Given the description of an element on the screen output the (x, y) to click on. 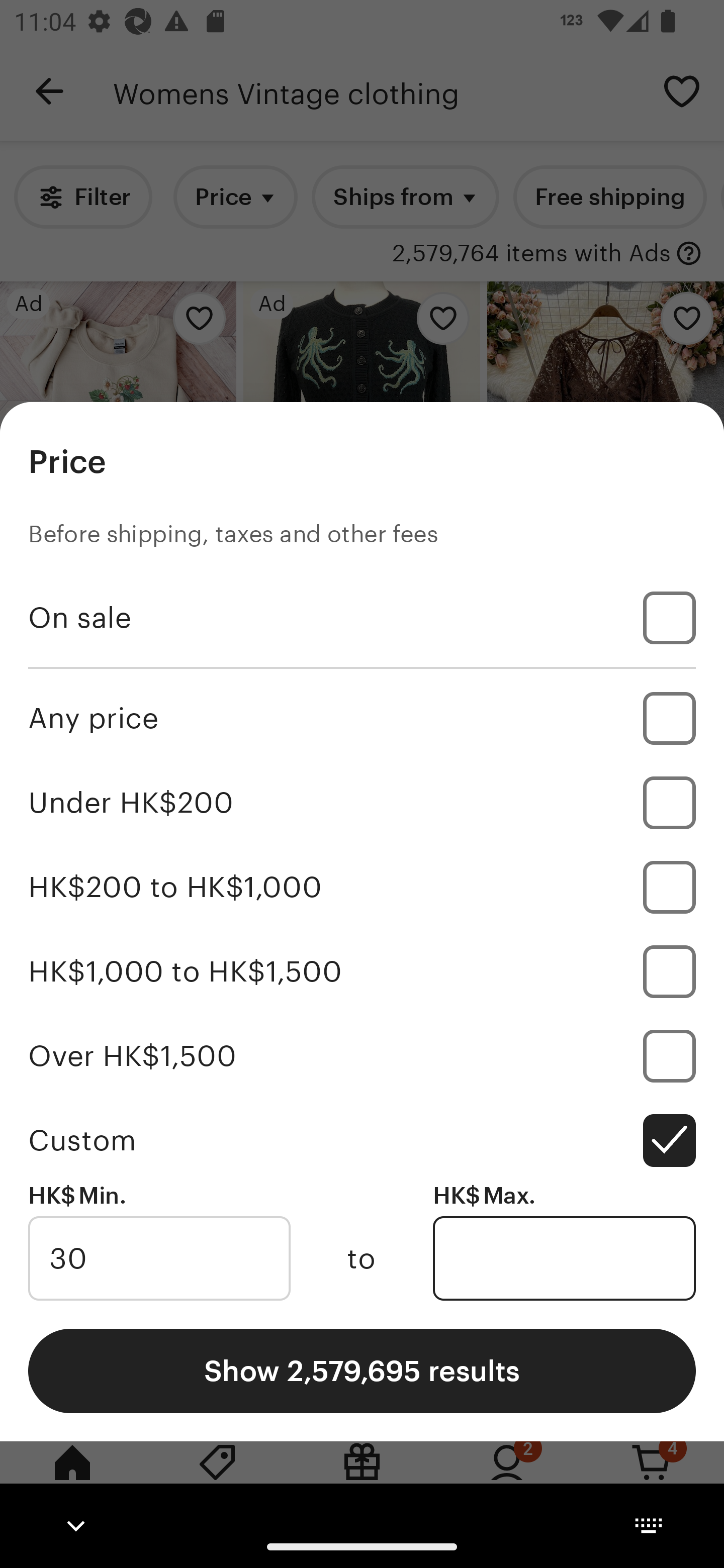
On sale (362, 617)
Any price (362, 717)
Under HK$200 (362, 802)
HK$200 to HK$1,000 (362, 887)
HK$1,000 to HK$1,500 (362, 970)
Over HK$1,500 (362, 1054)
Custom (362, 1139)
30 (159, 1257)
Show 2,579,695 results (361, 1370)
